Given the description of an element on the screen output the (x, y) to click on. 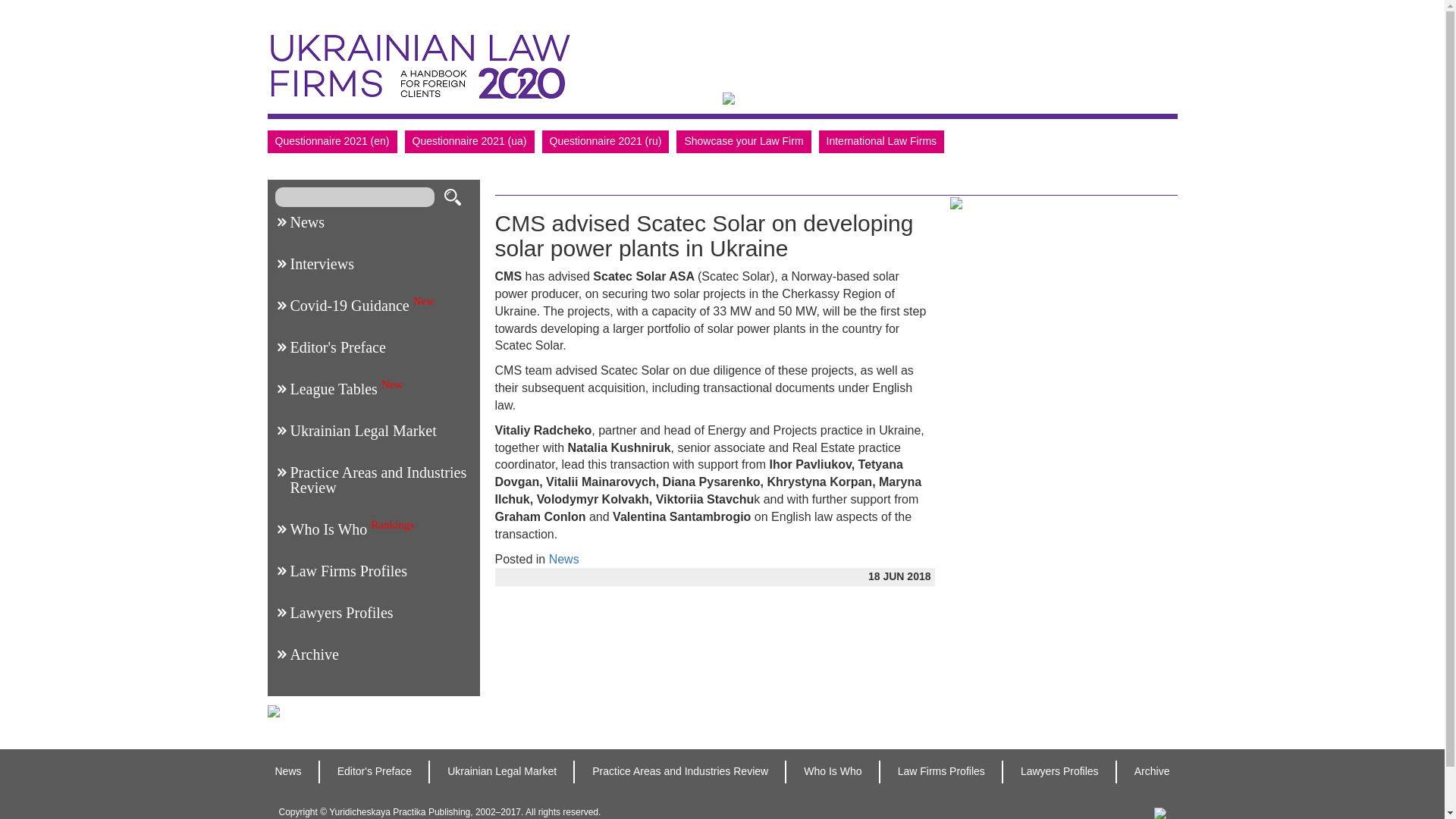
Ukrainian Legal Market (362, 430)
Showcase your Law Firm (743, 141)
News (306, 221)
Covid-19 Guidance (349, 305)
Practice Areas and Industries Review (377, 480)
League Tables (333, 388)
Interviews (321, 263)
International Law Firms (881, 141)
Editor's Preface (337, 347)
